Given the description of an element on the screen output the (x, y) to click on. 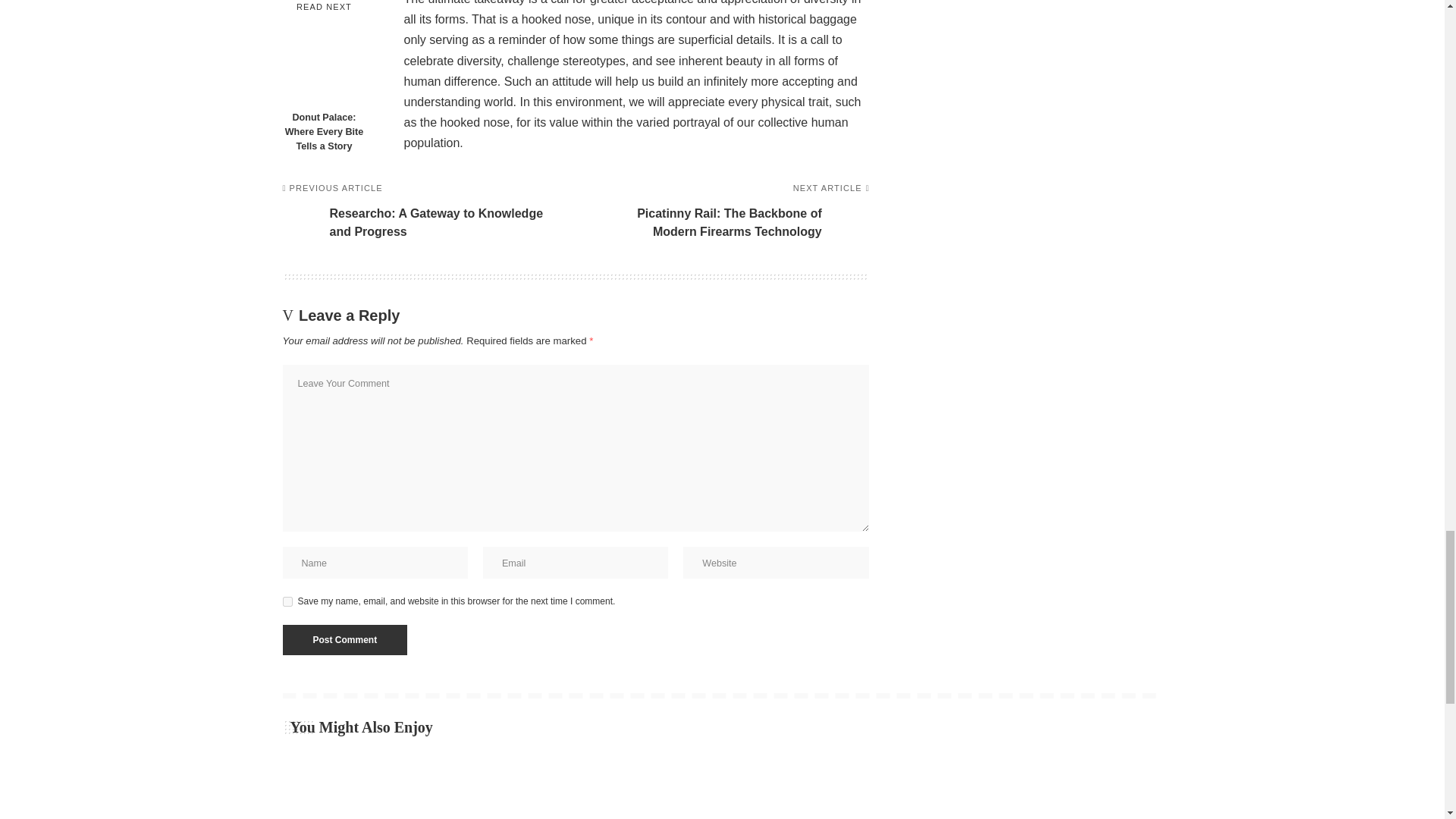
Post Comment (344, 639)
yes (287, 601)
